Given the description of an element on the screen output the (x, y) to click on. 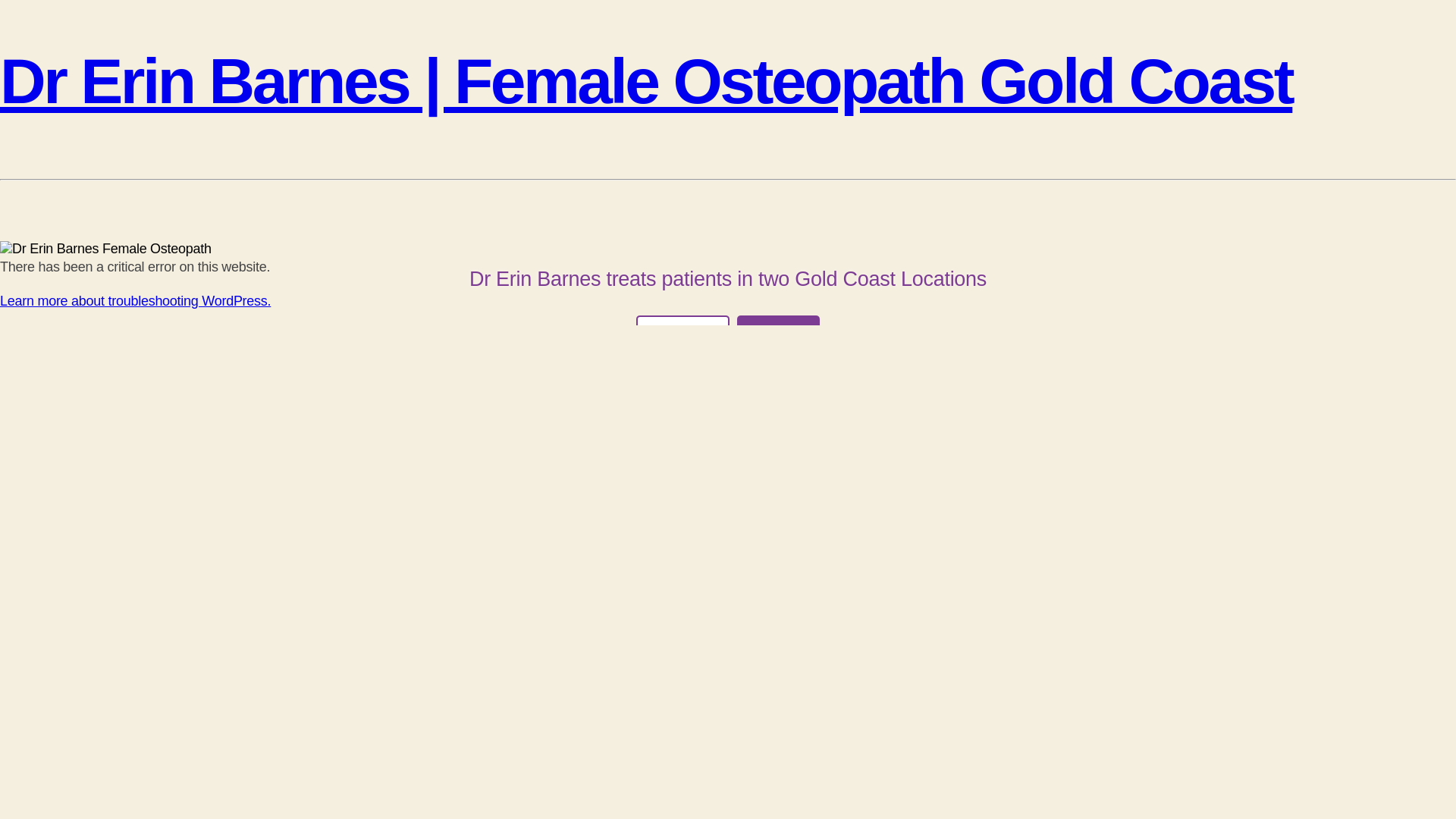
Learn more about troubleshooting WordPress. Element type: text (135, 300)
LOCATIONS Element type: text (682, 331)
CONTACT Element type: text (778, 331)
Dr Erin Barnes | Female Osteopath Gold Coast Element type: text (646, 80)
